Given the description of an element on the screen output the (x, y) to click on. 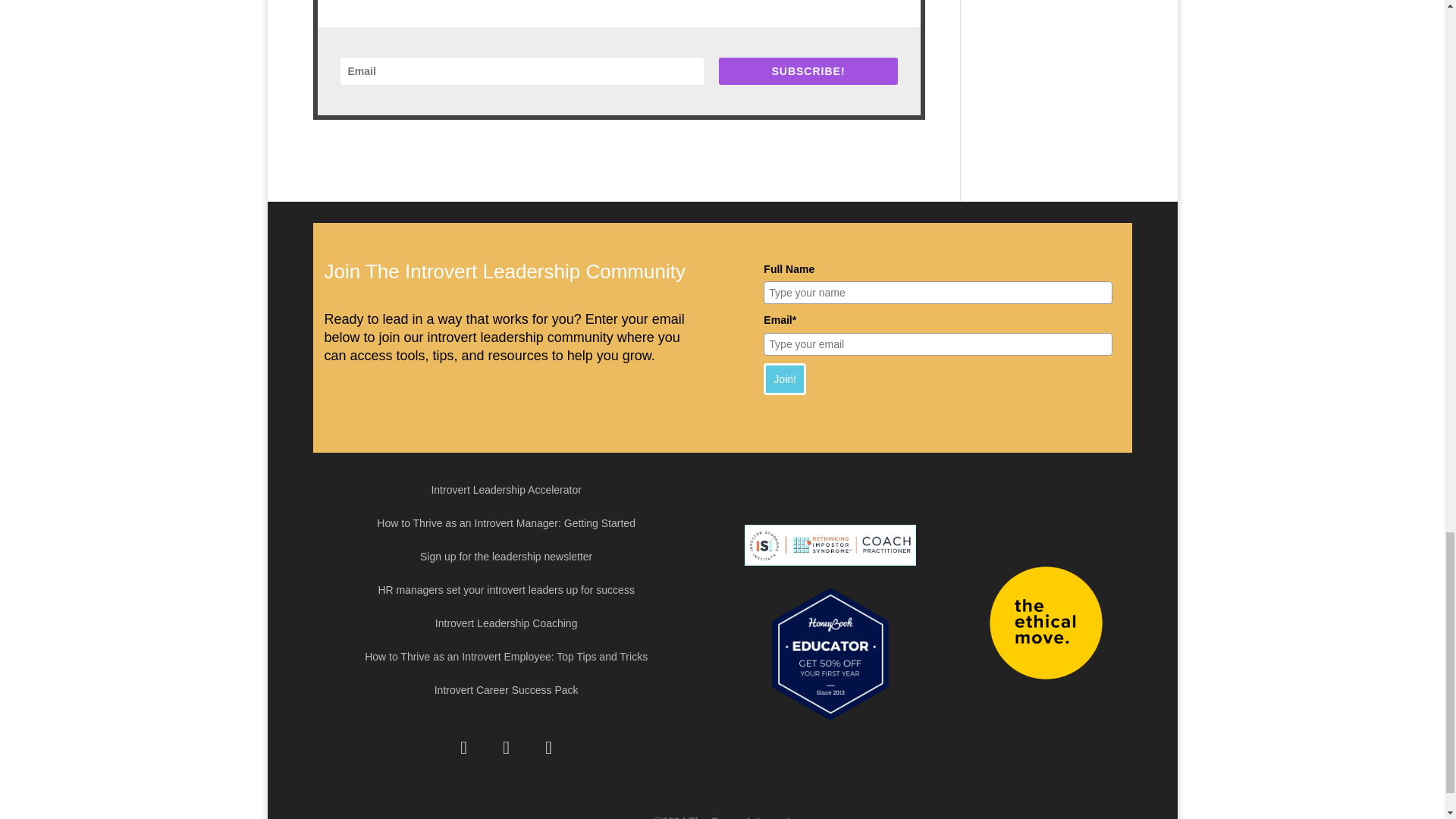
Join! (784, 377)
HR managers set your introvert leaders up for success (505, 592)
Introvert Leadership Coaching (506, 625)
Follow on Facebook (463, 747)
Introvert Career Success Pack (505, 692)
Introvert Leadership Accelerator (505, 492)
SUBSCRIBE! (807, 71)
Follow on Instagram (549, 747)
Follow on X (505, 747)
How to Thrive as an Introvert Employee: Top Tips and Tricks (506, 659)
